Given the description of an element on the screen output the (x, y) to click on. 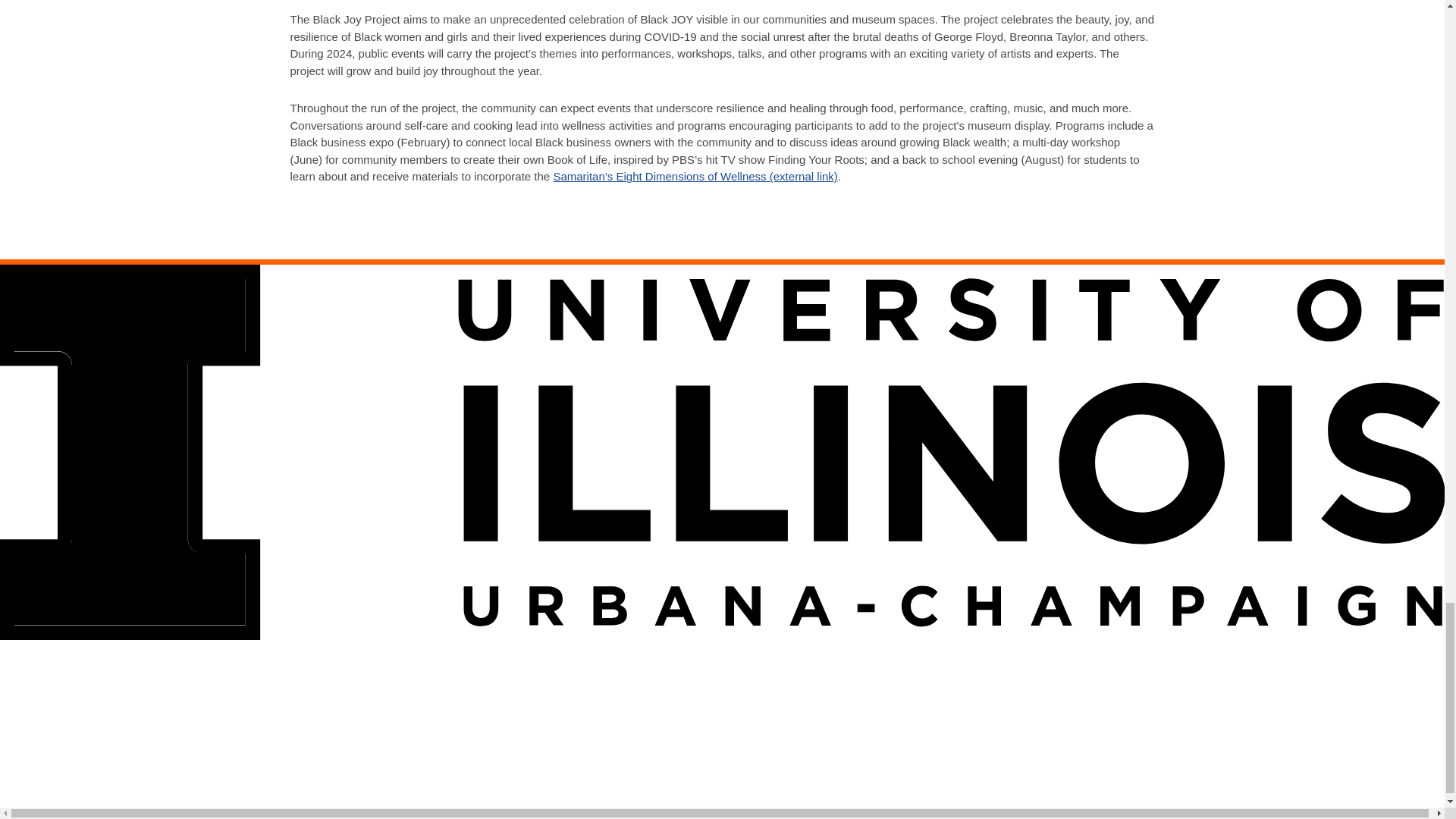
Copyright (30, 796)
Privacy Policy (132, 796)
LinkedIn (50, 762)
Facebook (13, 762)
Twitter (92, 762)
YouTube (134, 762)
